Given the description of an element on the screen output the (x, y) to click on. 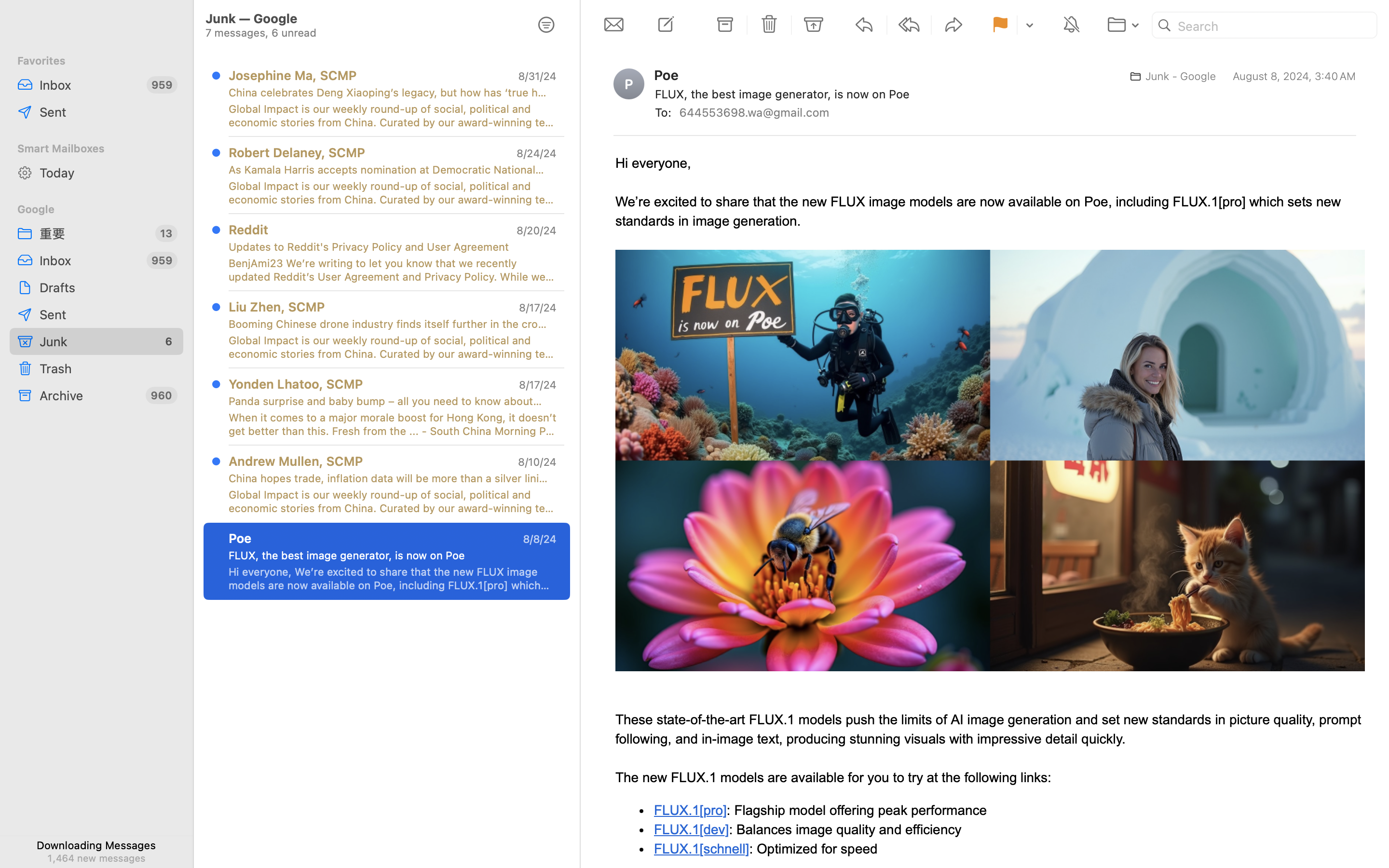
FLUX.1[pro] Element type: AXStaticText (690, 809)
8/8/24 Element type: AXStaticText (539, 538)
P Element type: AXStaticText (628, 83)
8/10/24 Element type: AXStaticText (537, 461)
Yonden Lhatoo, SCMP Element type: AXStaticText (295, 383)
